Given the description of an element on the screen output the (x, y) to click on. 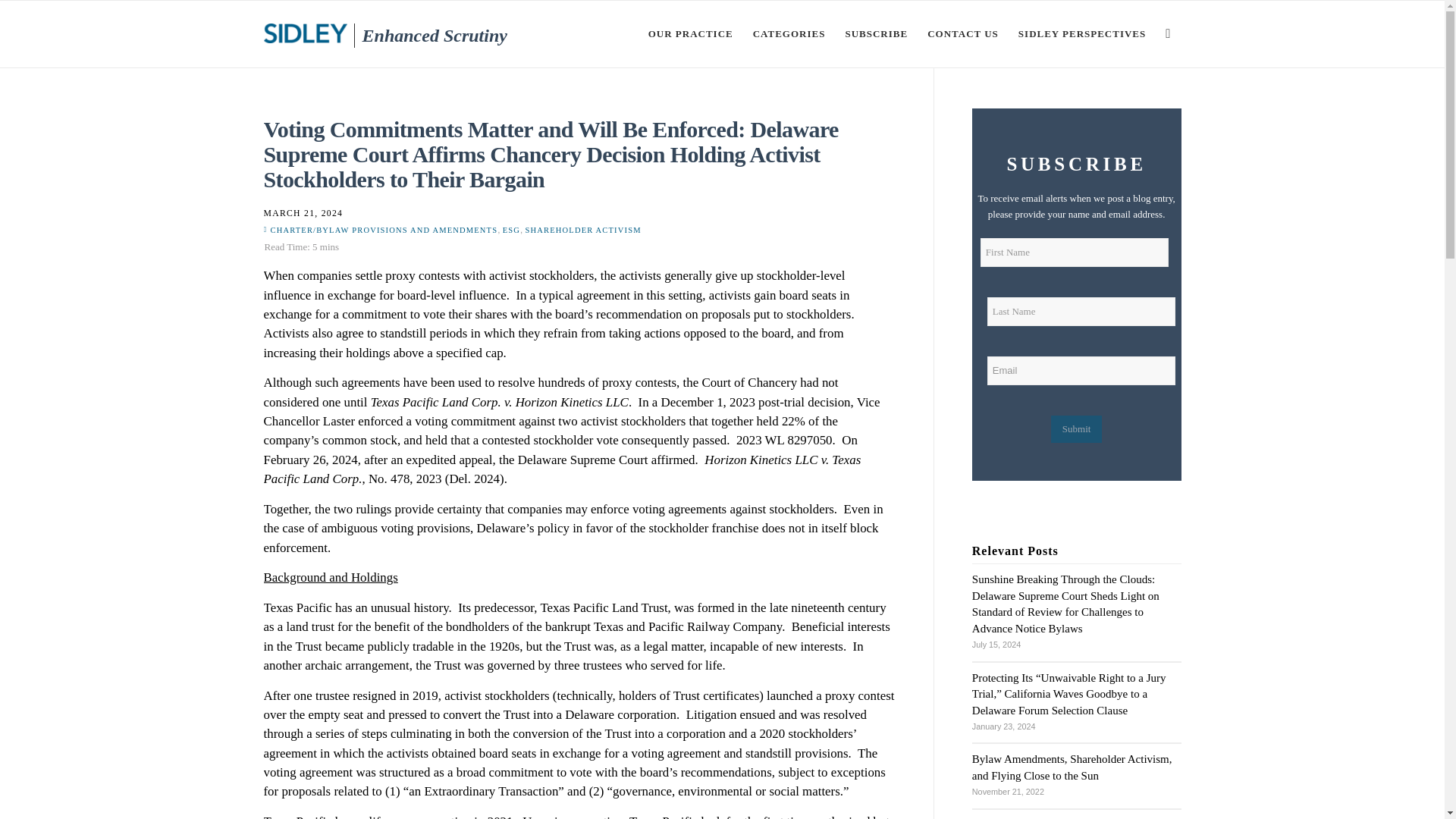
CONTACT US (963, 33)
CATEGORIES (788, 33)
SUBSCRIBE (875, 33)
OUR PRACTICE (690, 33)
ESG (510, 230)
SHAREHOLDER ACTIVISM (583, 230)
Enhanced Scrutiny (439, 23)
Submit (1076, 429)
